Given the description of an element on the screen output the (x, y) to click on. 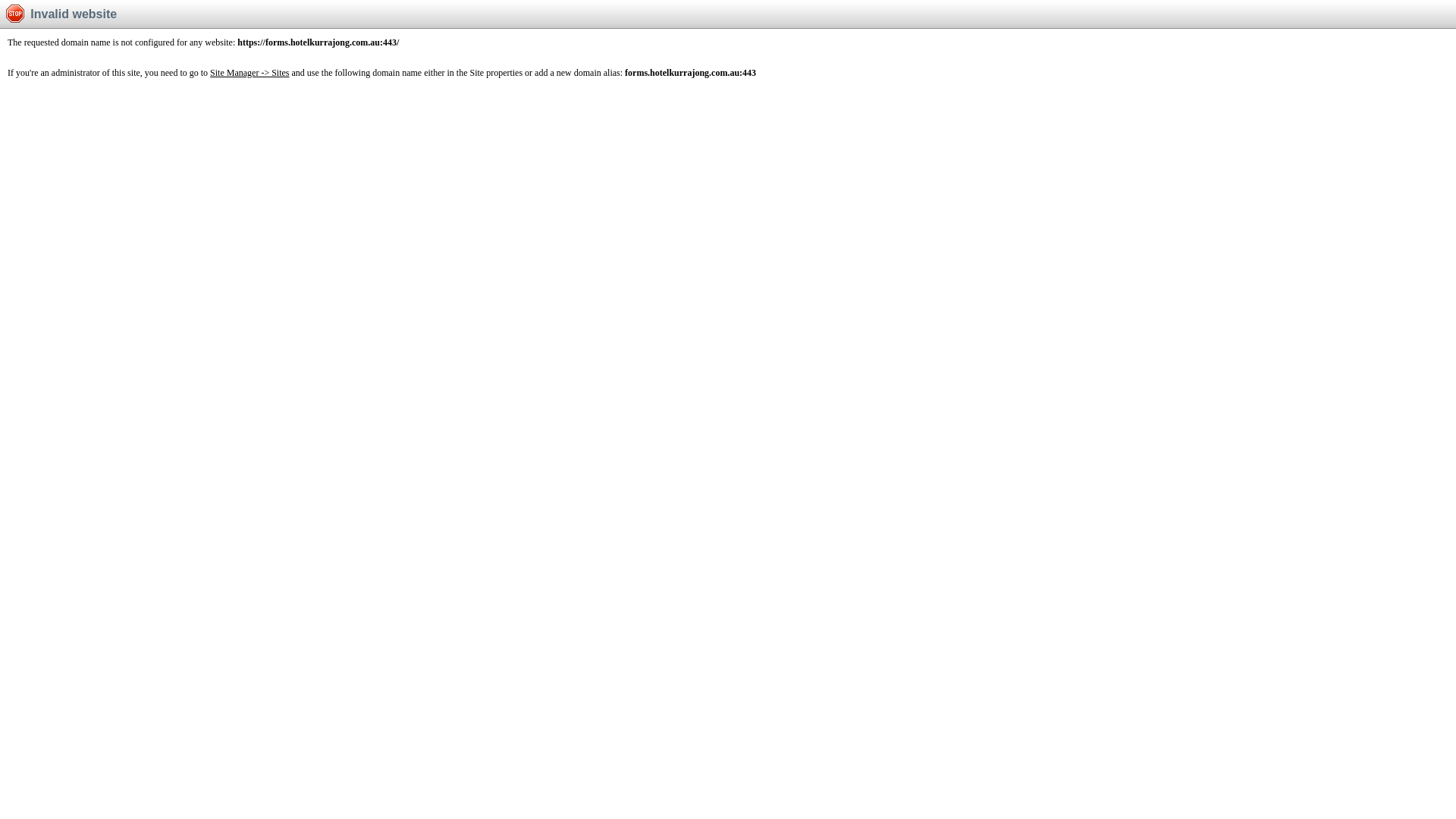
Site Manager -> Sites Element type: text (249, 72)
